Given the description of an element on the screen output the (x, y) to click on. 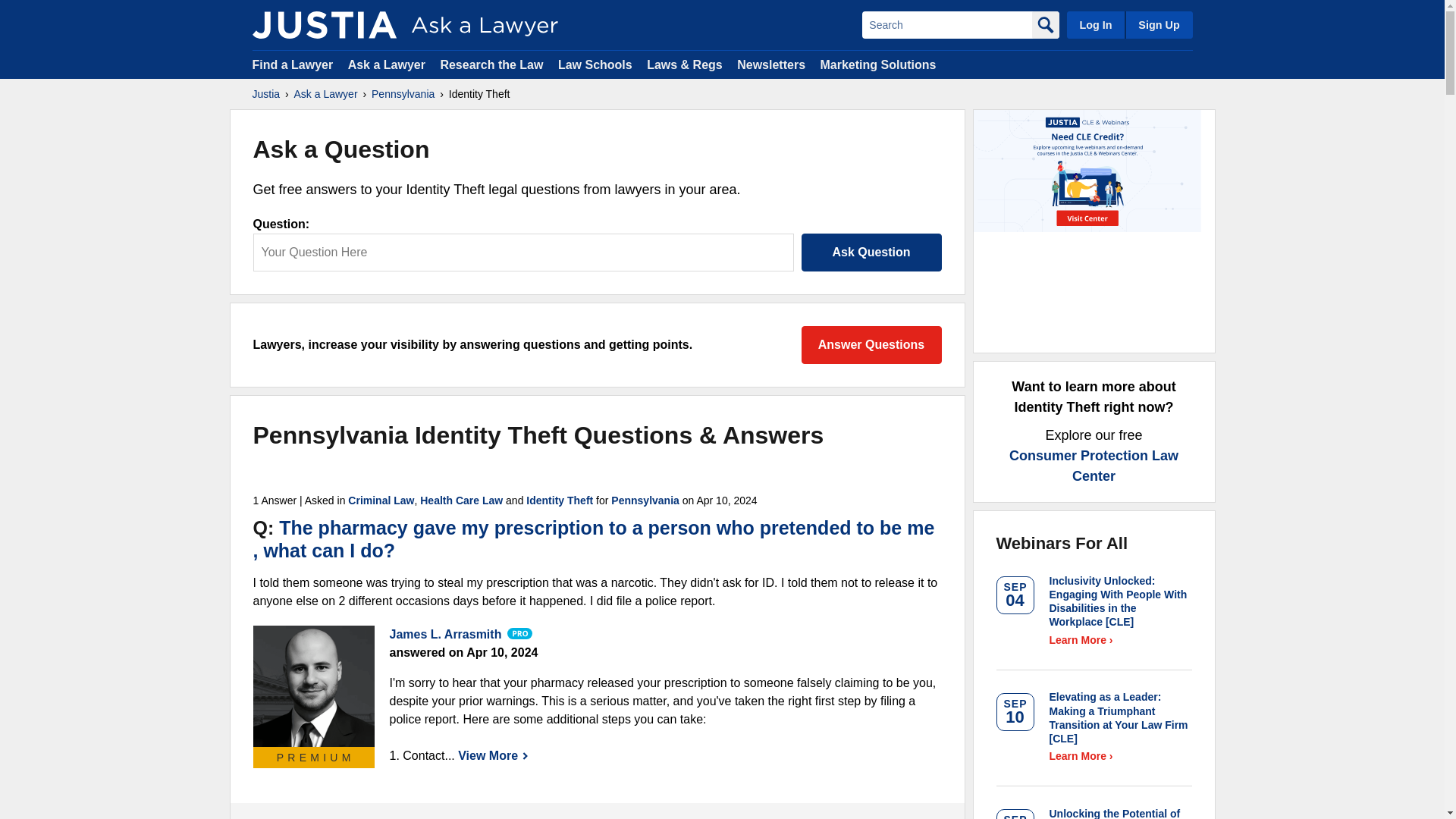
Justia (323, 24)
Sign Up (1158, 24)
Criminal Law (380, 500)
Pennsylvania (645, 500)
James L. Arrasmith (313, 685)
View More (493, 755)
Answer Questions (870, 344)
Identity Theft (558, 500)
Research the Law (491, 64)
Marketing Solutions (877, 64)
